Given the description of an element on the screen output the (x, y) to click on. 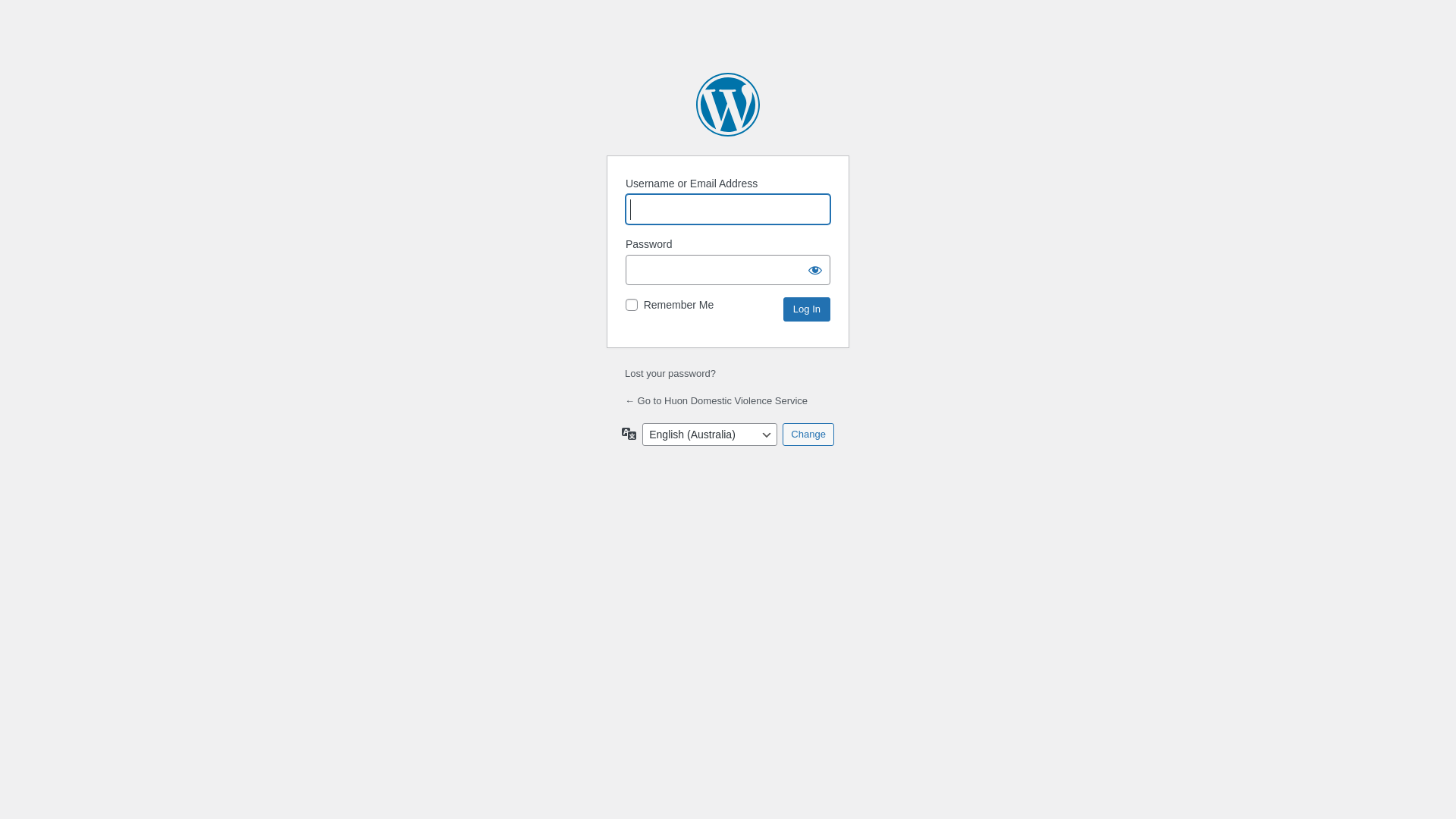
Change Element type: text (808, 434)
Log In Element type: text (806, 309)
Powered by WordPress Element type: text (727, 104)
Lost your password? Element type: text (669, 373)
